Given the description of an element on the screen output the (x, y) to click on. 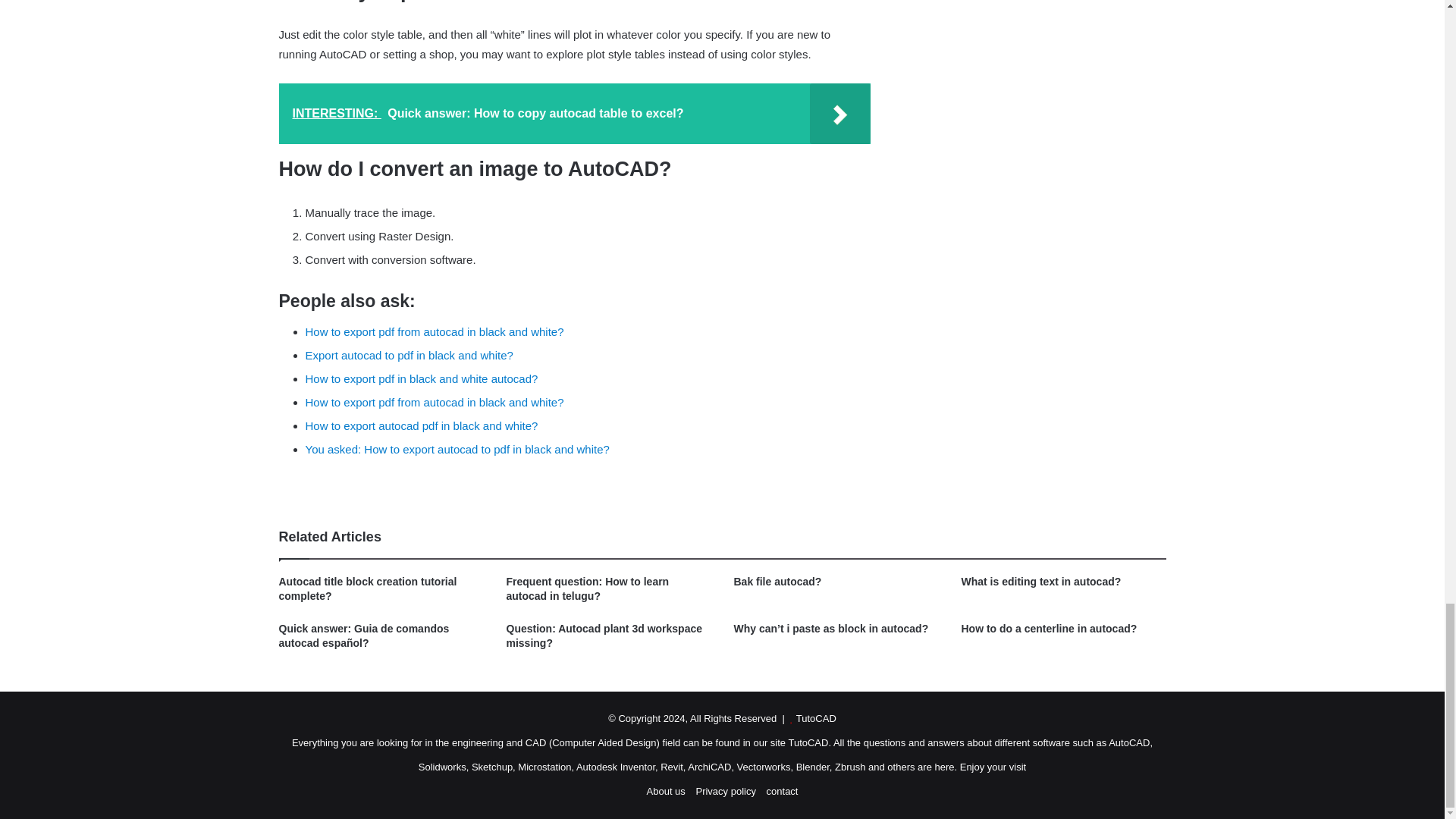
You asked: How to export autocad to pdf in black and white? (456, 449)
How to export autocad pdf in black and white? (420, 425)
How to export pdf from autocad in black and white? (433, 401)
How to export pdf from autocad in black and white? (433, 331)
Export autocad to pdf in black and white? (408, 354)
How to export pdf in black and white autocad? (420, 378)
